Given the description of an element on the screen output the (x, y) to click on. 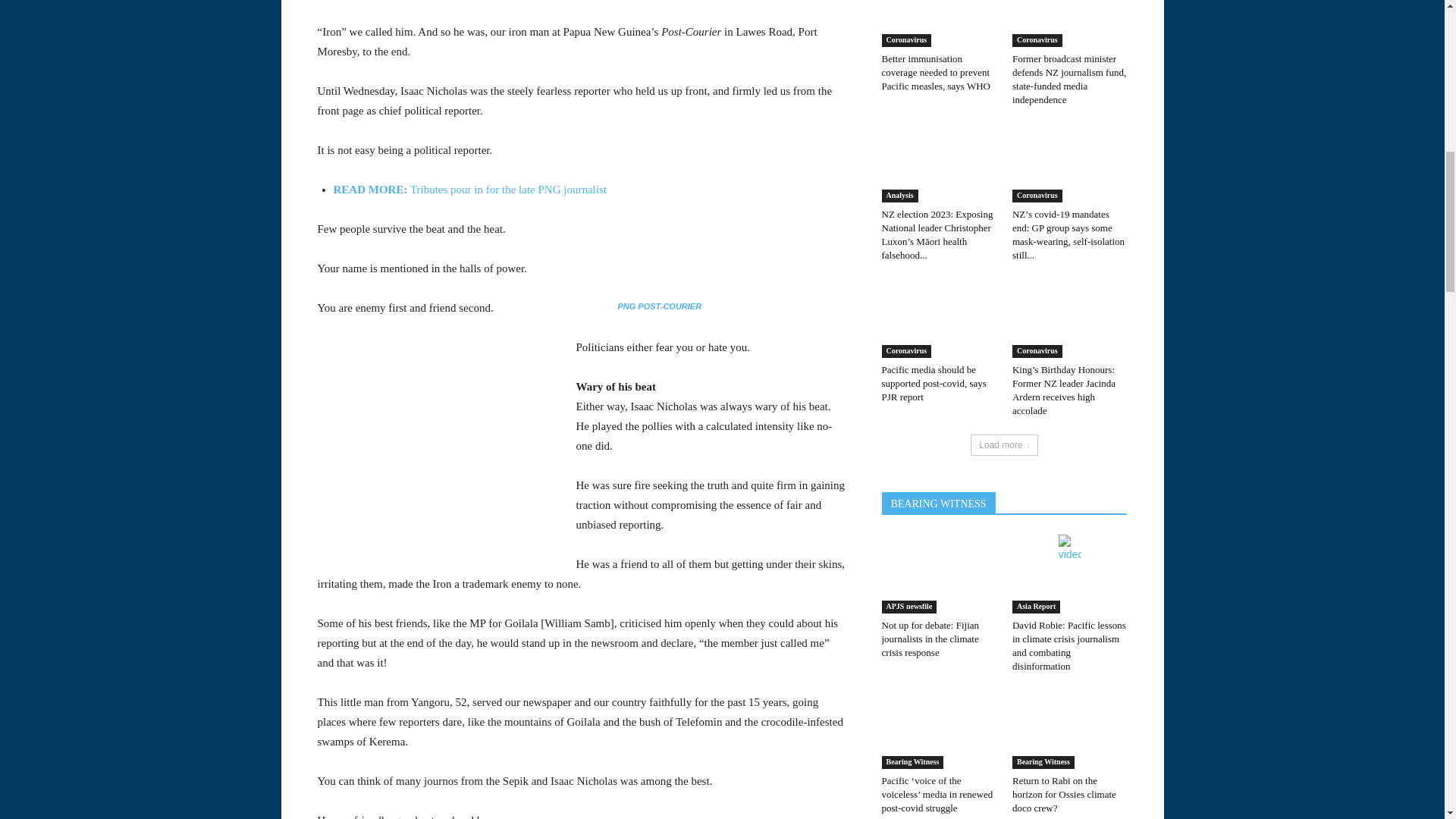
Brunei (140, 179)
Asia Report (140, 150)
Tokelau (140, 10)
West Papua (140, 121)
Vanuatu (140, 92)
Indonesia (140, 265)
Tonga (140, 35)
Lao (140, 294)
China (140, 236)
Malaysia (140, 323)
Myanmar (140, 352)
Cambodia (140, 208)
Tuvalu (140, 63)
